Given the description of an element on the screen output the (x, y) to click on. 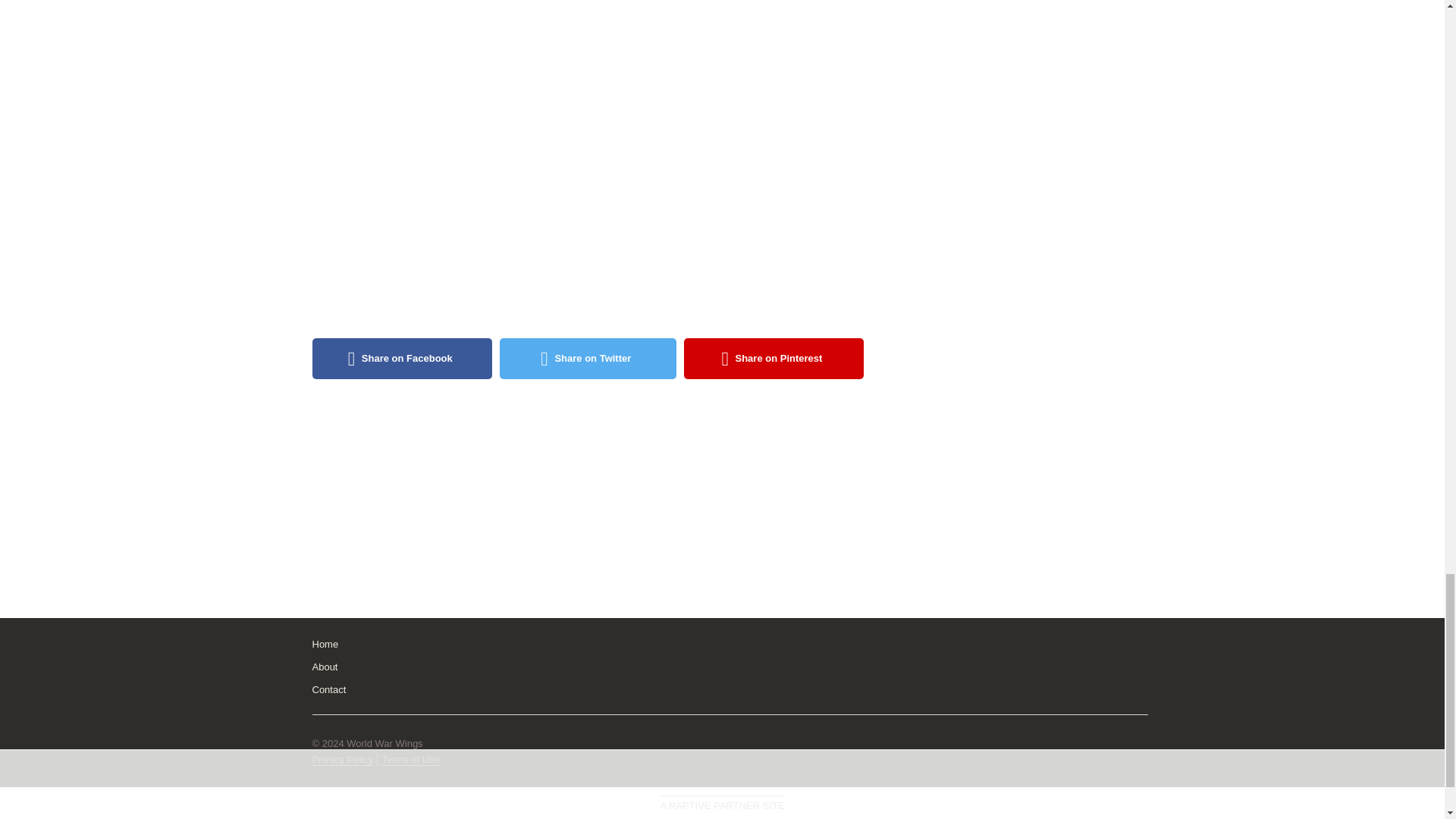
Share on Pinterest (774, 358)
